Given the description of an element on the screen output the (x, y) to click on. 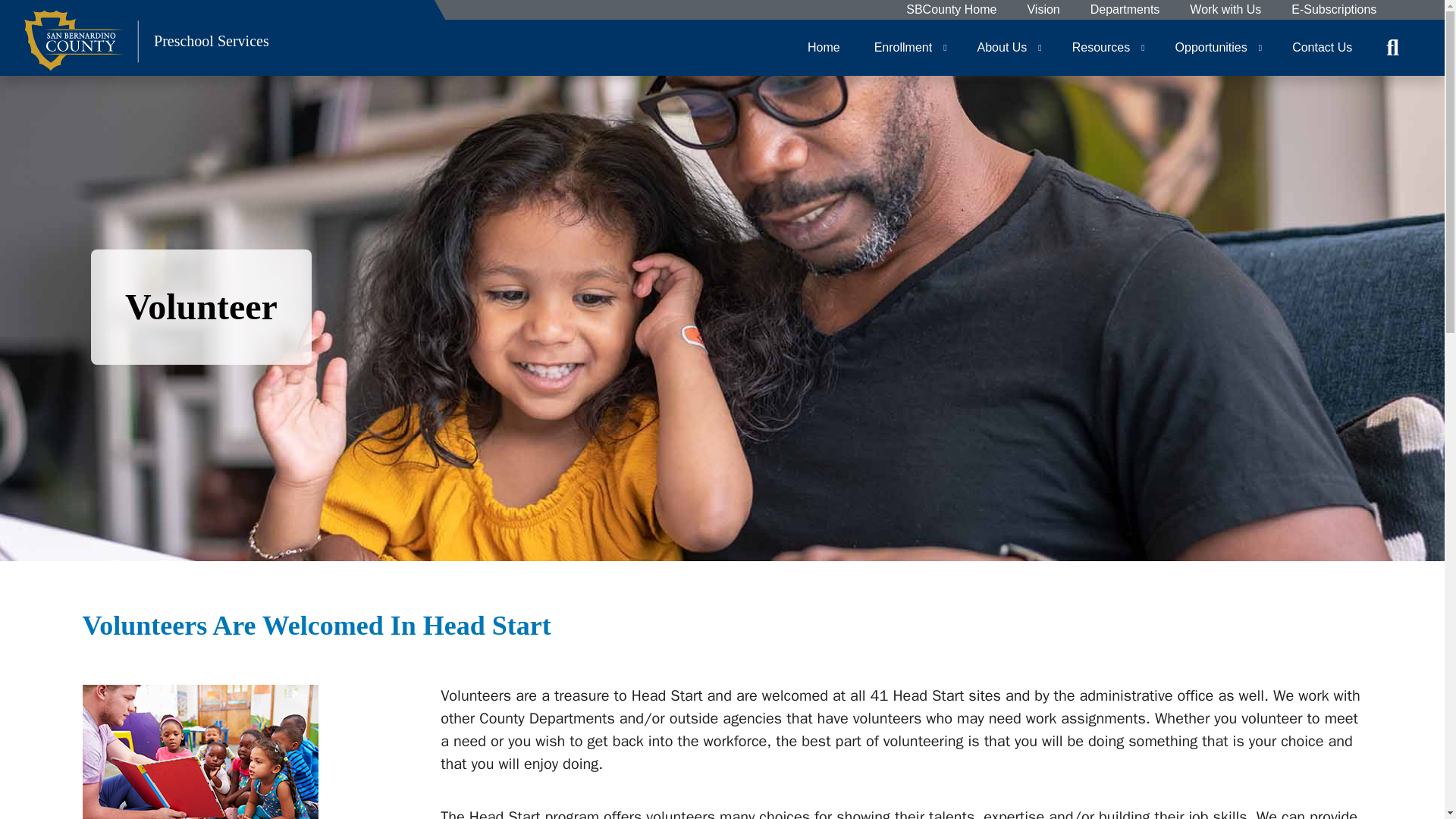
San Bernardino County Contact Departments (1125, 10)
E-Subscriptions (1333, 10)
Working in San Bernardino County (1224, 10)
San Bernardino County Website (950, 10)
Preschool Services (146, 47)
Volunteer reading to students (210, 751)
Countywide Vision (1042, 10)
